Given the description of an element on the screen output the (x, y) to click on. 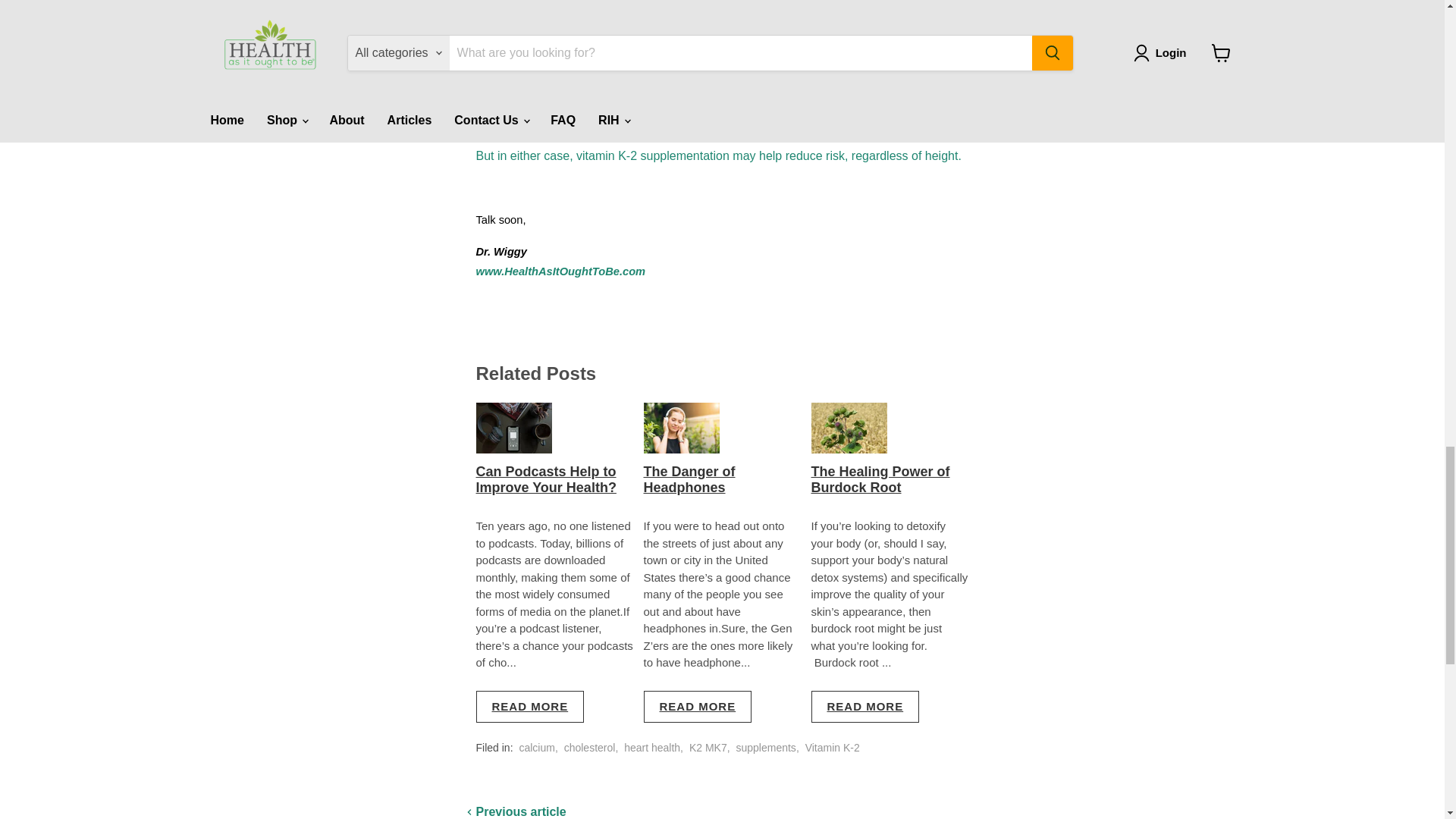
Show articles tagged K2 MK7 (707, 747)
Show articles tagged calcium (536, 747)
Show articles tagged heart health (651, 747)
Show articles tagged cholesterol (589, 747)
Show articles tagged supplements (764, 747)
Show articles tagged Vitamin K-2 (832, 747)
